Given the description of an element on the screen output the (x, y) to click on. 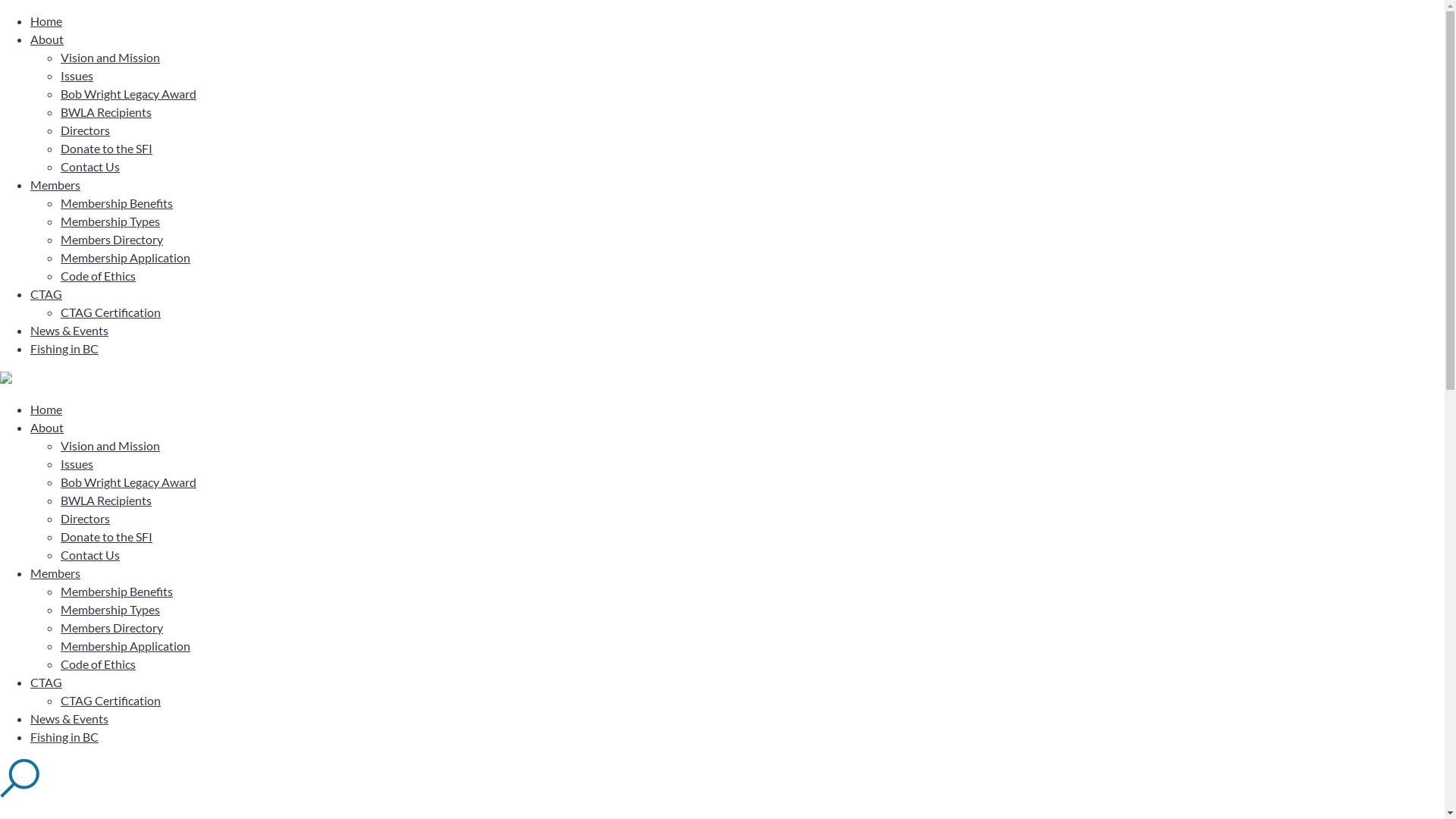
Vision and Mission Element type: text (110, 445)
Issues Element type: text (76, 75)
Membership Benefits Element type: text (116, 590)
News & Events Element type: text (69, 718)
BWLA Recipients Element type: text (105, 499)
CTAG Element type: text (46, 681)
Membership Types Element type: text (110, 609)
Membership Application Element type: text (125, 645)
Members Directory Element type: text (111, 627)
Fishing in BC Element type: text (64, 348)
Bob Wright Legacy Award Element type: text (128, 93)
Directors Element type: text (84, 129)
CTAG Certification Element type: text (110, 700)
Home Element type: text (46, 20)
Members Element type: text (55, 572)
Membership Types Element type: text (110, 220)
Members Directory Element type: text (111, 239)
BWLA Recipients Element type: text (105, 111)
Membership Application Element type: text (125, 257)
Vision and Mission Element type: text (110, 57)
Directors Element type: text (84, 518)
Bob Wright Legacy Award Element type: text (128, 481)
Issues Element type: text (76, 463)
About Element type: text (46, 38)
CTAG Certification Element type: text (110, 311)
Donate to the SFI Element type: text (106, 148)
Donate to the SFI Element type: text (106, 536)
Fishing in BC Element type: text (64, 736)
About Element type: text (46, 427)
Home Element type: text (46, 408)
Code of Ethics Element type: text (97, 663)
Contact Us Element type: text (89, 554)
CTAG Element type: text (46, 293)
Members Element type: text (55, 184)
News & Events Element type: text (69, 330)
Code of Ethics Element type: text (97, 275)
Contact Us Element type: text (89, 166)
Membership Benefits Element type: text (116, 202)
